Given the description of an element on the screen output the (x, y) to click on. 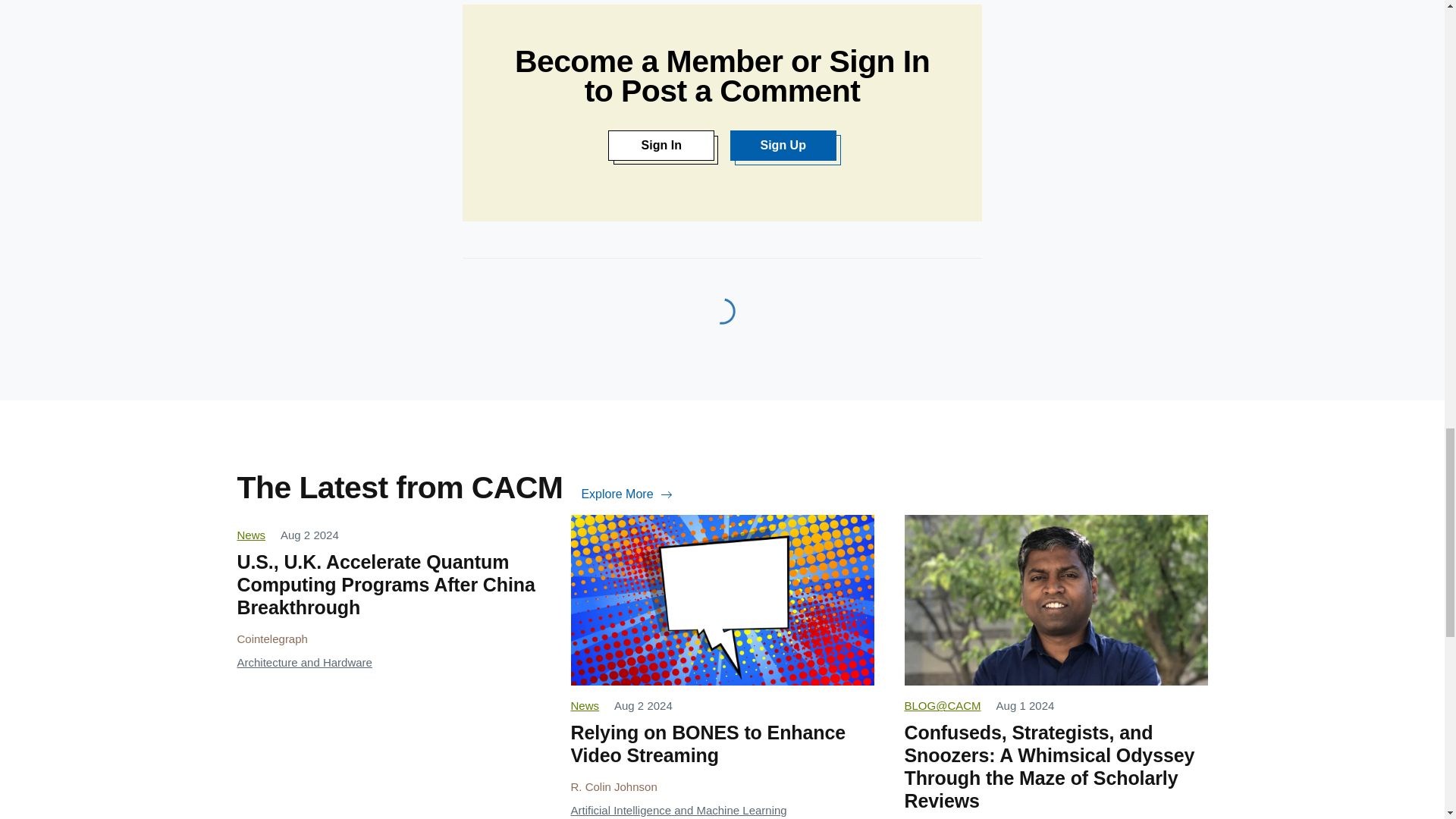
Posts by R. Colin Johnson (613, 786)
Posts by Cointelegraph (271, 638)
